Given the description of an element on the screen output the (x, y) to click on. 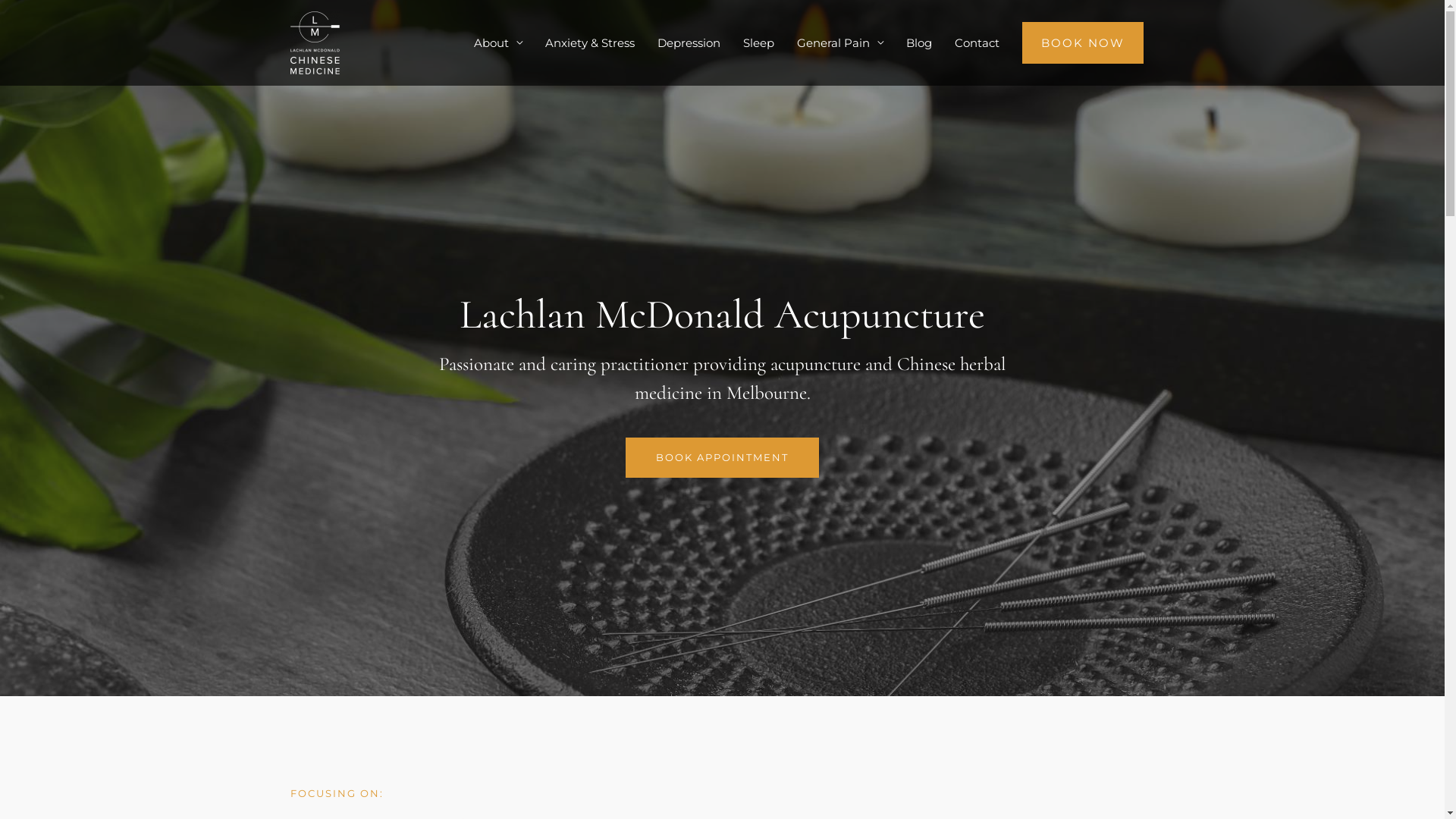
Blog Element type: text (918, 42)
Anxiety & Stress Element type: text (589, 42)
About Element type: text (497, 42)
Depression Element type: text (688, 42)
General Pain Element type: text (839, 42)
Contact Element type: text (976, 42)
BOOK NOW Element type: text (1082, 42)
BOOK APPOINTMENT Element type: text (722, 457)
Sleep Element type: text (757, 42)
